Given the description of an element on the screen output the (x, y) to click on. 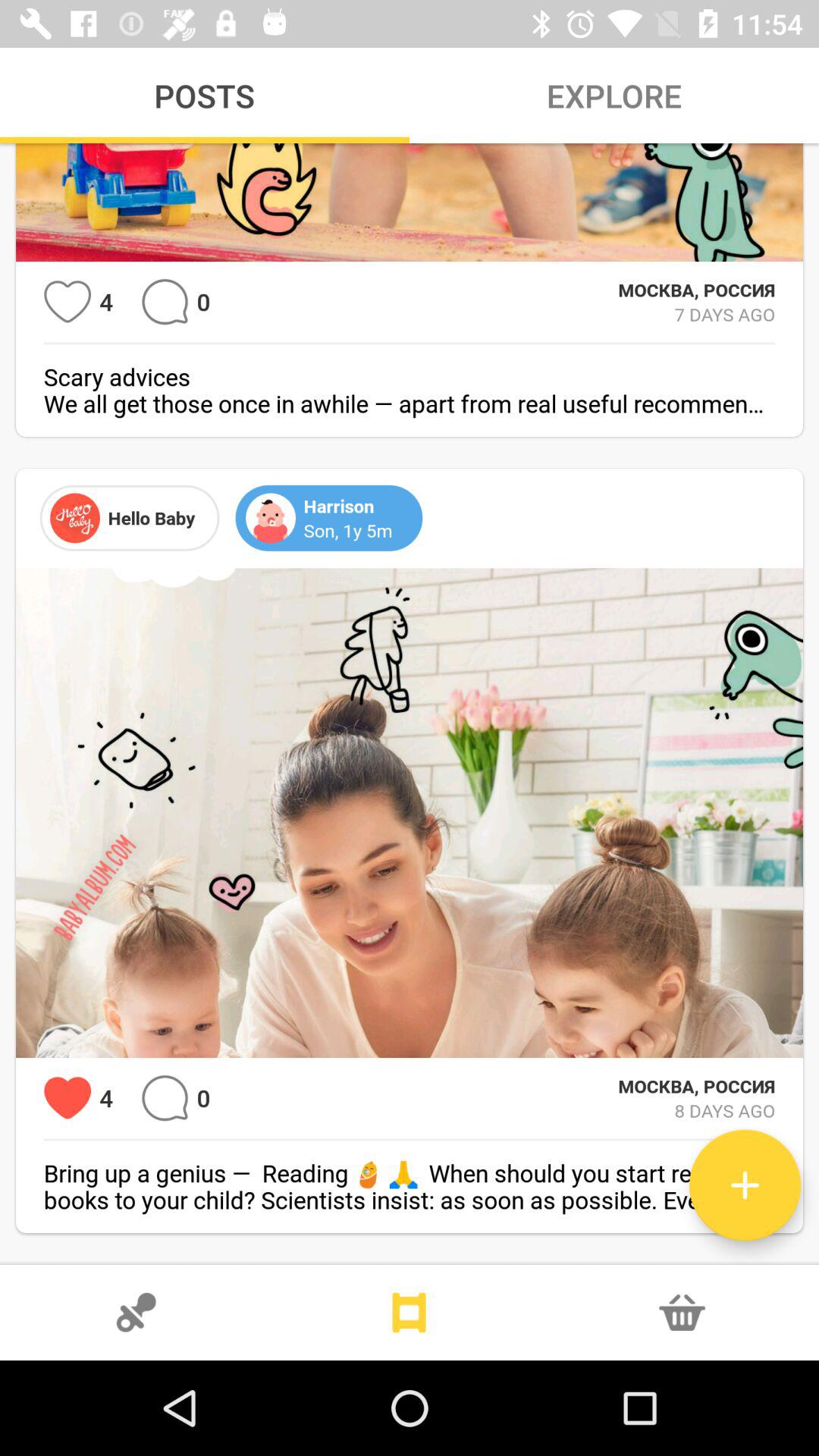
click item to the left of the 4 item (67, 301)
